Given the description of an element on the screen output the (x, y) to click on. 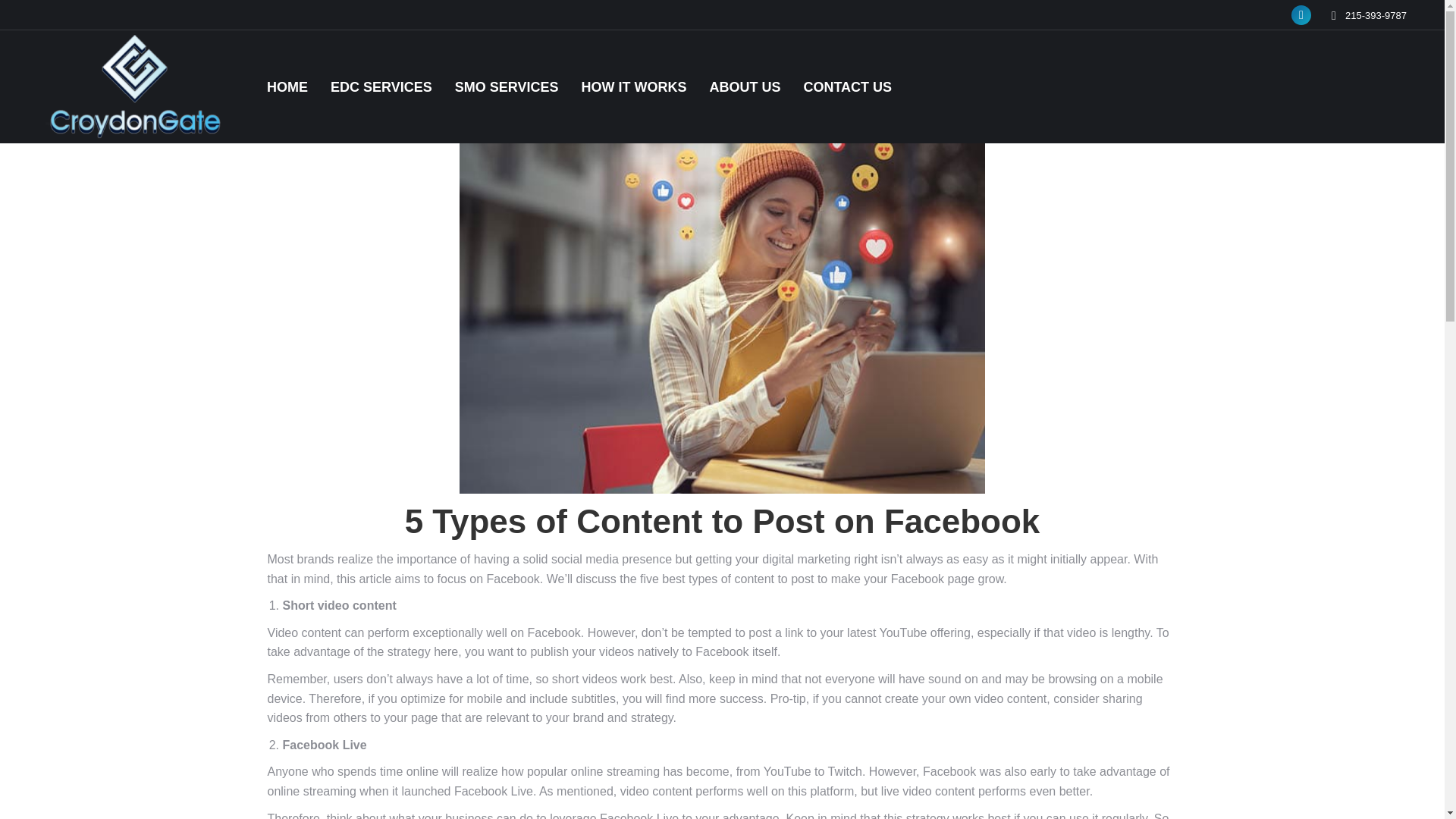
EDC SERVICES (381, 86)
215-393-9787 (1375, 14)
SMO SERVICES (506, 86)
Facebook page opens in new window (1301, 14)
HOW IT WORKS (632, 86)
Facebook page opens in new window (1301, 14)
